Given the description of an element on the screen output the (x, y) to click on. 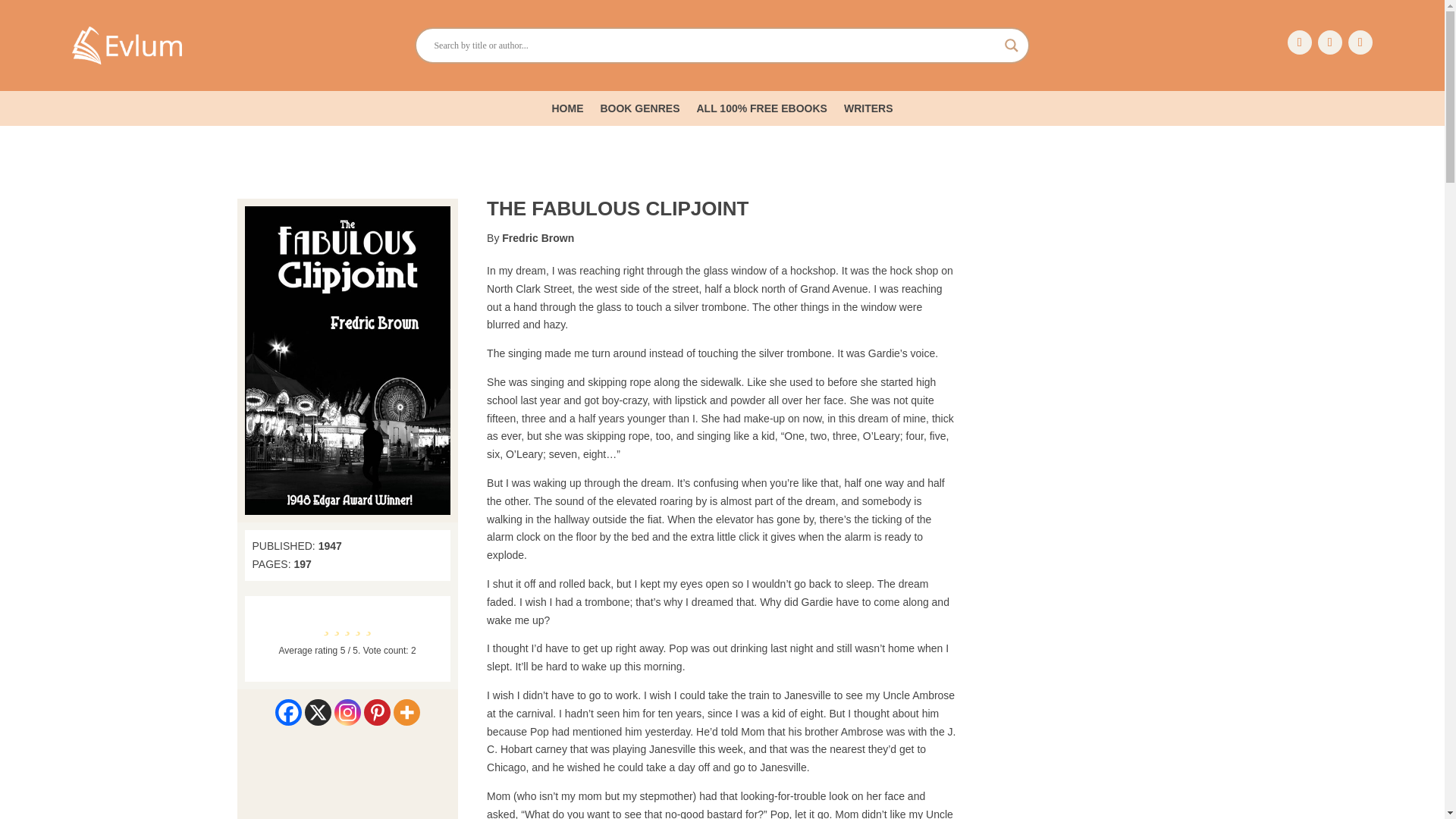
X (317, 712)
More (406, 712)
Follow on X (1329, 42)
Follow on Instagram (1360, 42)
Facebook (288, 712)
Instagram (347, 712)
BOOK GENRES (639, 111)
Follow on Facebook (1299, 42)
WRITERS (868, 111)
Evlum Free Online Ebooks (126, 45)
